Given the description of an element on the screen output the (x, y) to click on. 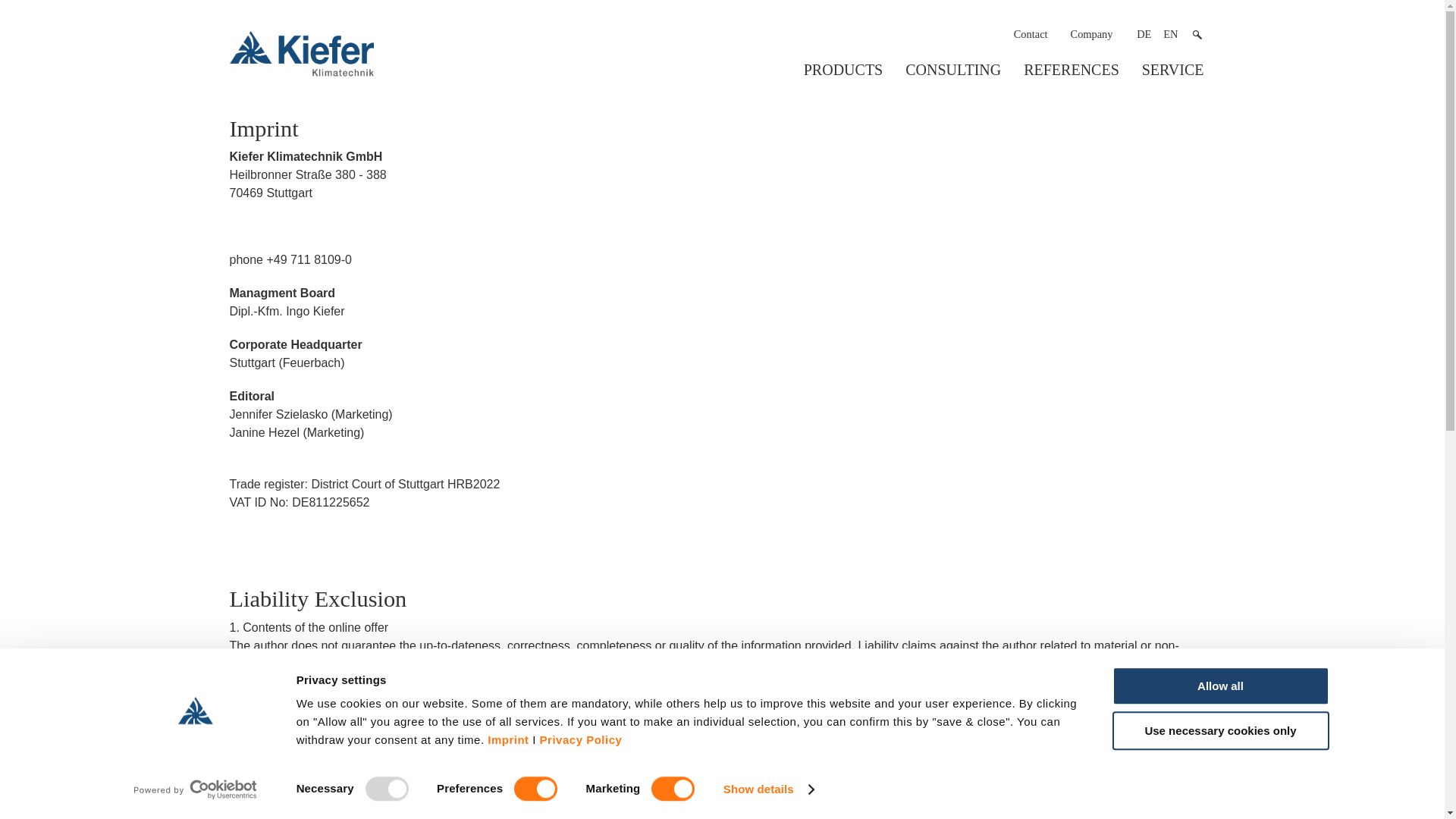
Use necessary cookies only (1219, 730)
Search (1197, 34)
Contact (1031, 33)
DE (1144, 33)
Privacy Policy (581, 739)
Show details (767, 789)
Imprint (507, 739)
deutsch (1144, 33)
Allow all (1219, 685)
EN (1170, 33)
